Given the description of an element on the screen output the (x, y) to click on. 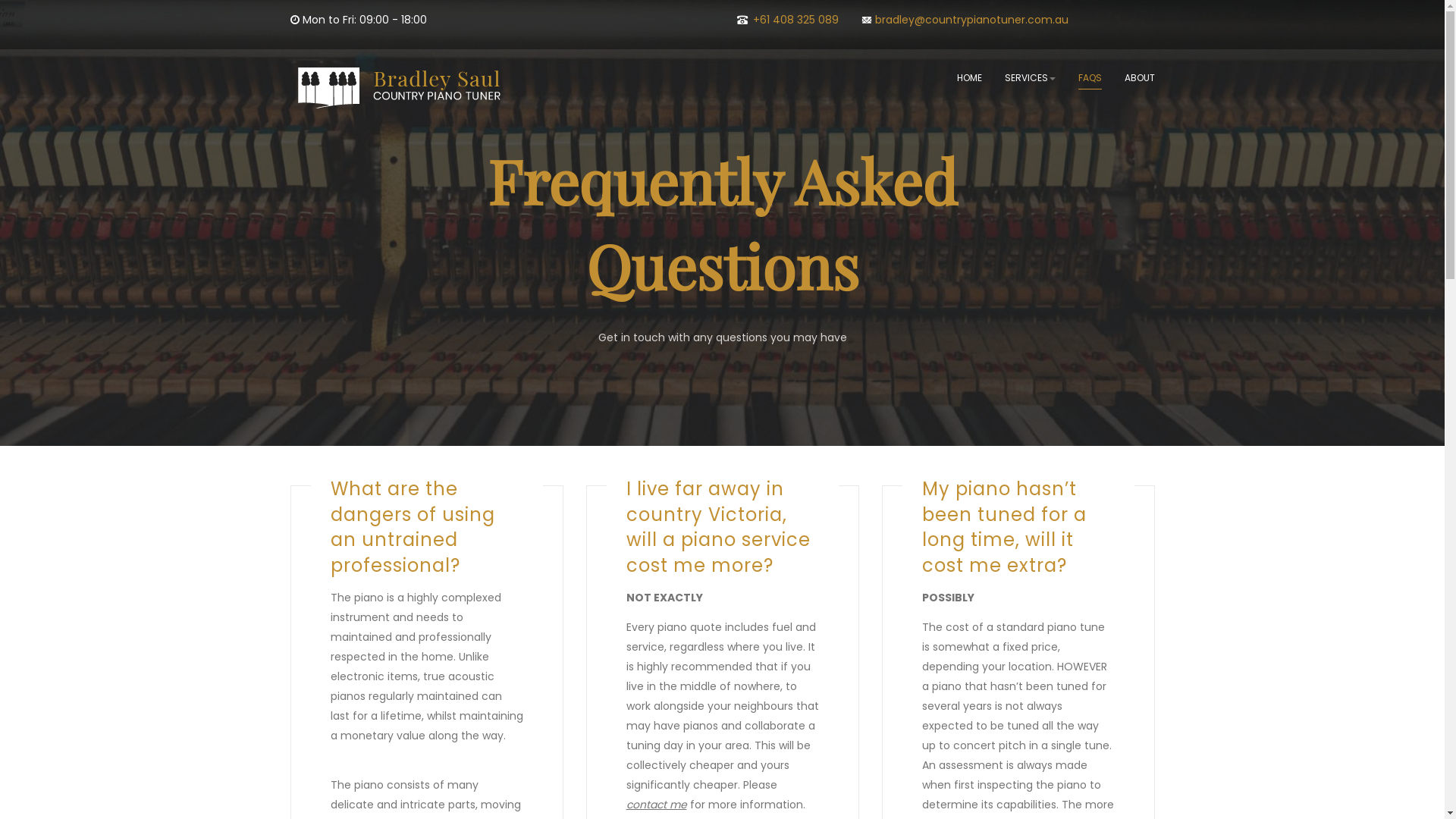
What are the dangers of using an untrained professional? Element type: text (412, 526)
bradley@countrypianotuner.com.au Element type: text (971, 19)
ABOUT Element type: text (1138, 78)
SERVICES Element type: text (1029, 78)
HOME Element type: text (969, 78)
Back to Top Element type: hover (1404, 779)
+61 408 325 089 Element type: text (794, 19)
Bradley Saul the Country Piano Tuner Element type: hover (398, 87)
FAQS Element type: text (1089, 78)
